Given the description of an element on the screen output the (x, y) to click on. 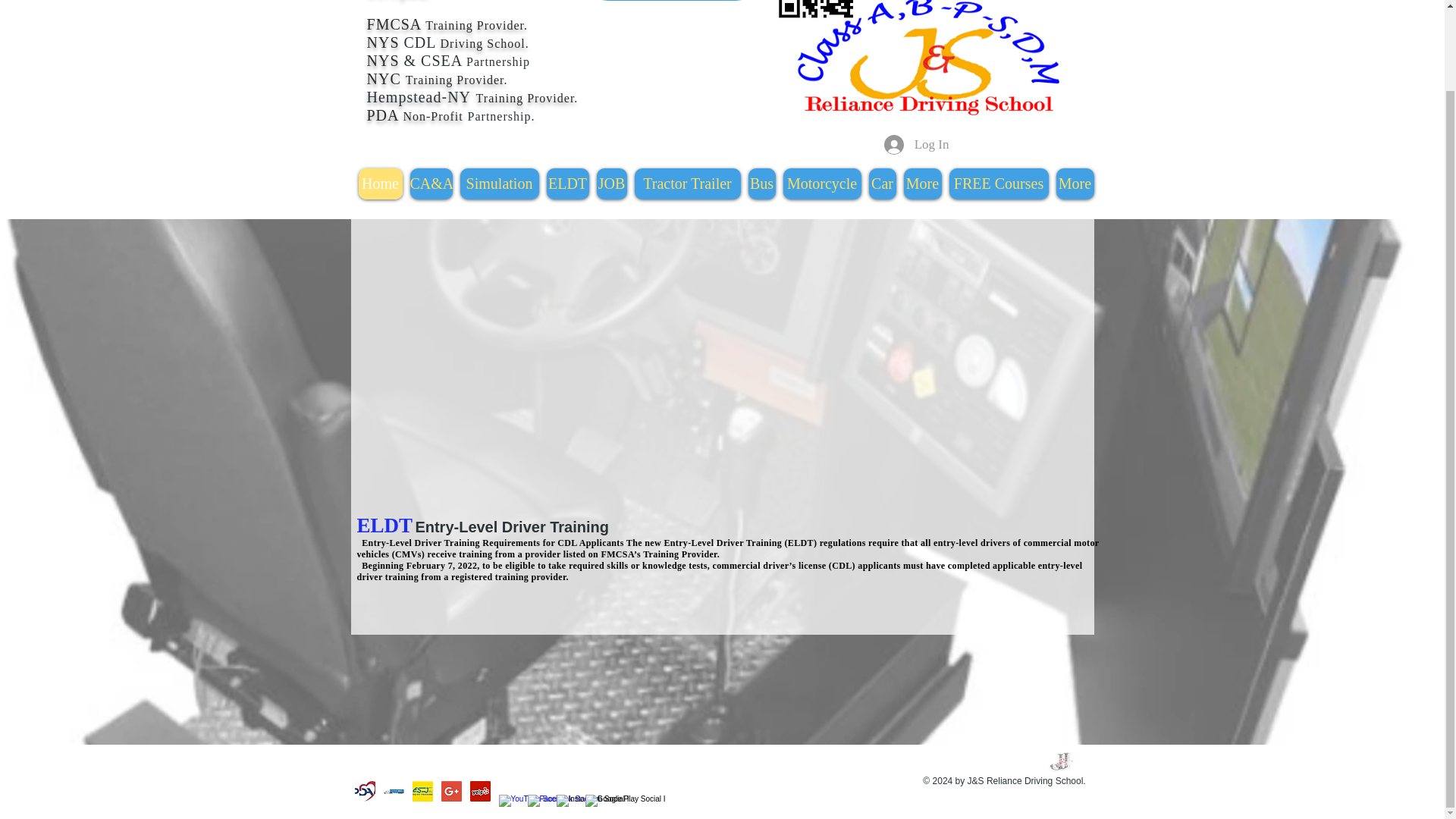
Tractor Trailer (686, 183)
Log In (916, 144)
Motorcycle (821, 183)
Home (379, 183)
JOB (610, 183)
Simulation (499, 183)
ELDT (567, 183)
More (923, 183)
FREE Courses (998, 183)
